Given the description of an element on the screen output the (x, y) to click on. 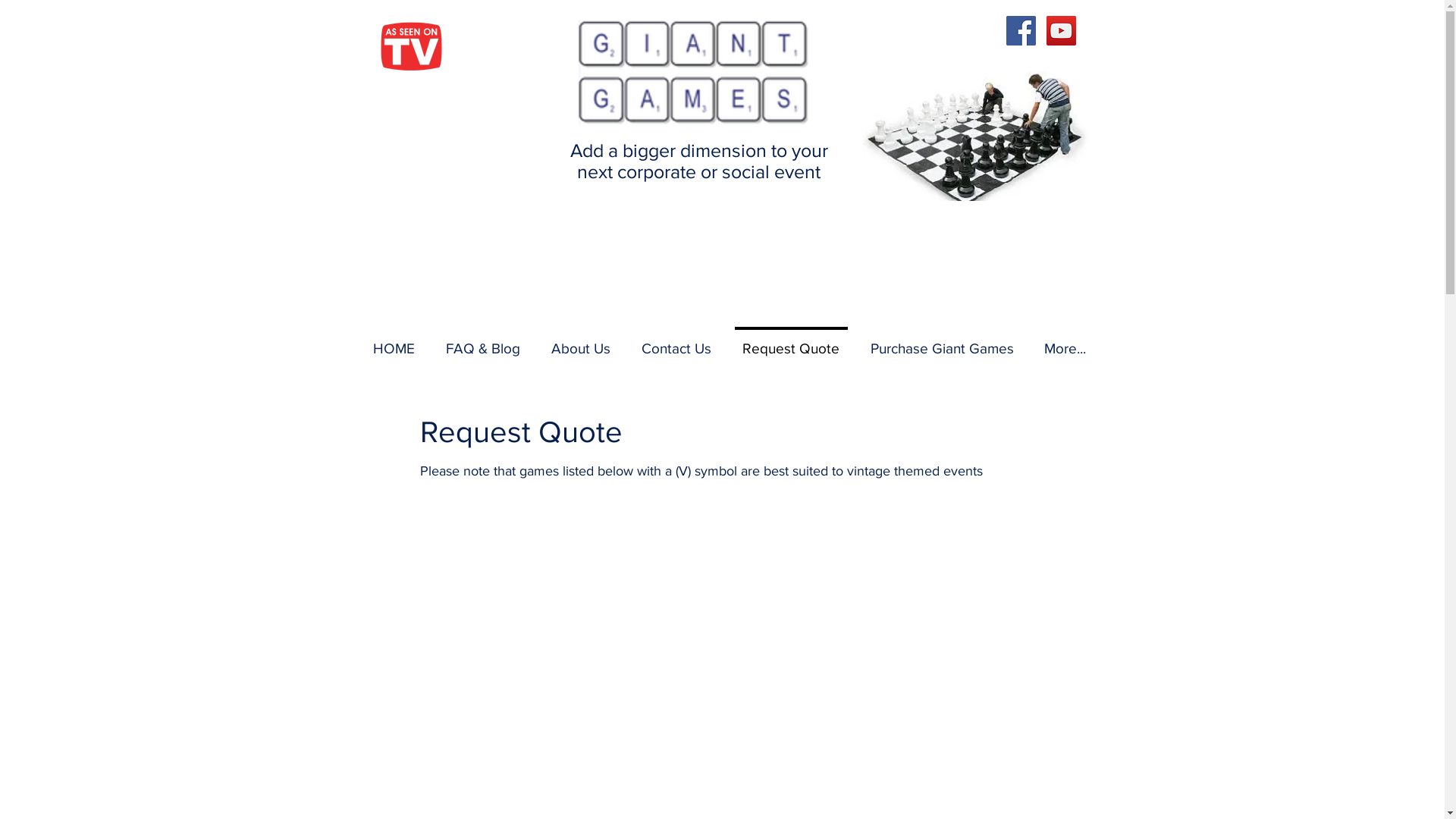
About Us Element type: text (580, 341)
Purchase Giant Games Element type: text (942, 341)
Contact Us Element type: text (676, 341)
HOME Element type: text (393, 341)
FAQ & Blog Element type: text (483, 341)
Request Quote Element type: text (790, 341)
